Given the description of an element on the screen output the (x, y) to click on. 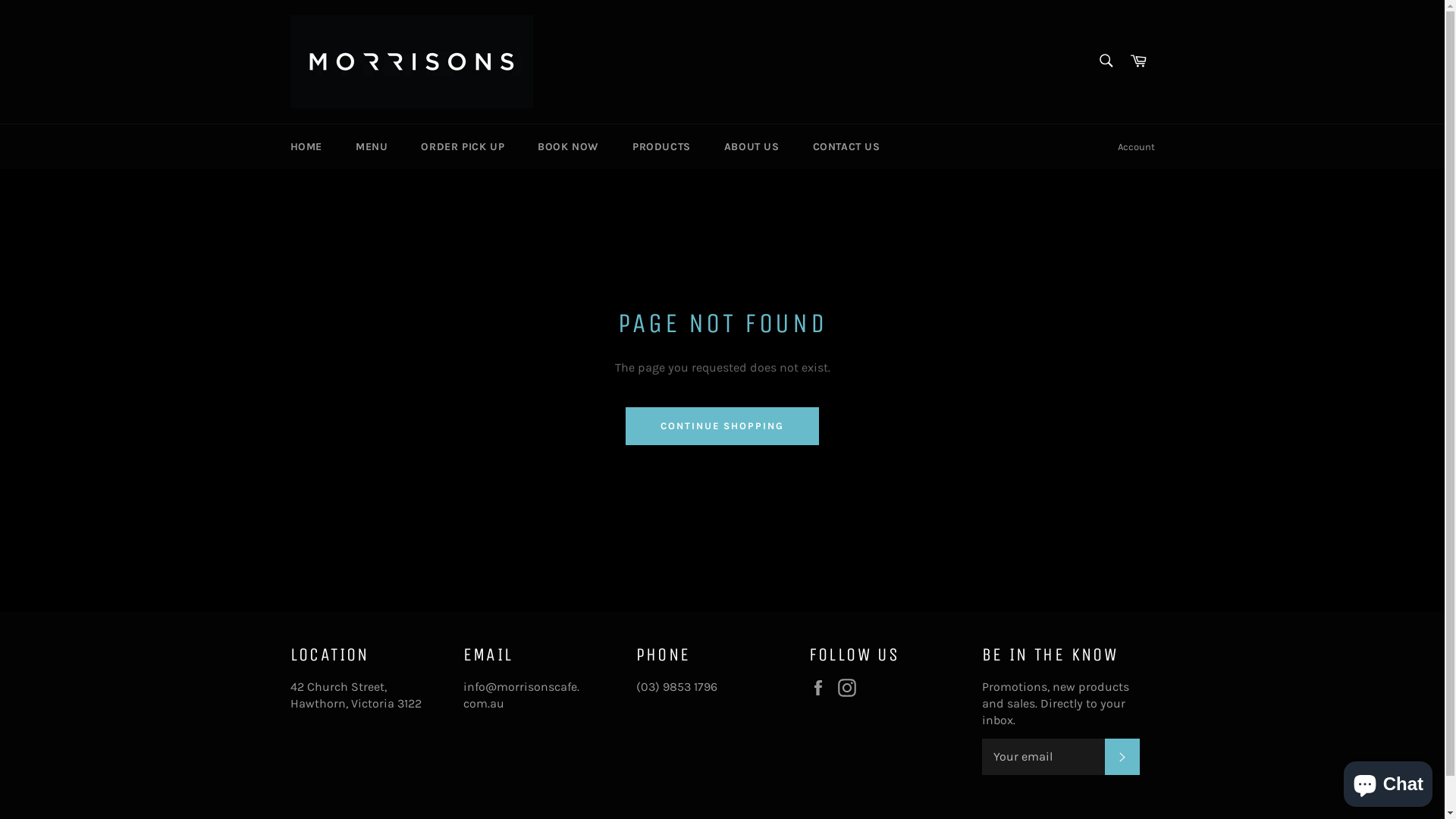
MENU Element type: text (371, 146)
ABOUT US Element type: text (751, 146)
CONTACT US Element type: text (846, 146)
Shopify online store chat Element type: hover (1388, 780)
Instagram Element type: text (849, 687)
CONTINUE SHOPPING Element type: text (722, 426)
SUBSCRIBE Element type: text (1121, 756)
Cart Element type: text (1138, 61)
(03) 9853 1796 Element type: text (675, 686)
BOOK NOW Element type: text (568, 146)
Facebook Element type: text (821, 687)
ORDER PICK UP Element type: text (462, 146)
PRODUCTS Element type: text (661, 146)
Search Element type: text (1105, 60)
Account Element type: text (1136, 147)
HOME Element type: text (305, 146)
